Given the description of an element on the screen output the (x, y) to click on. 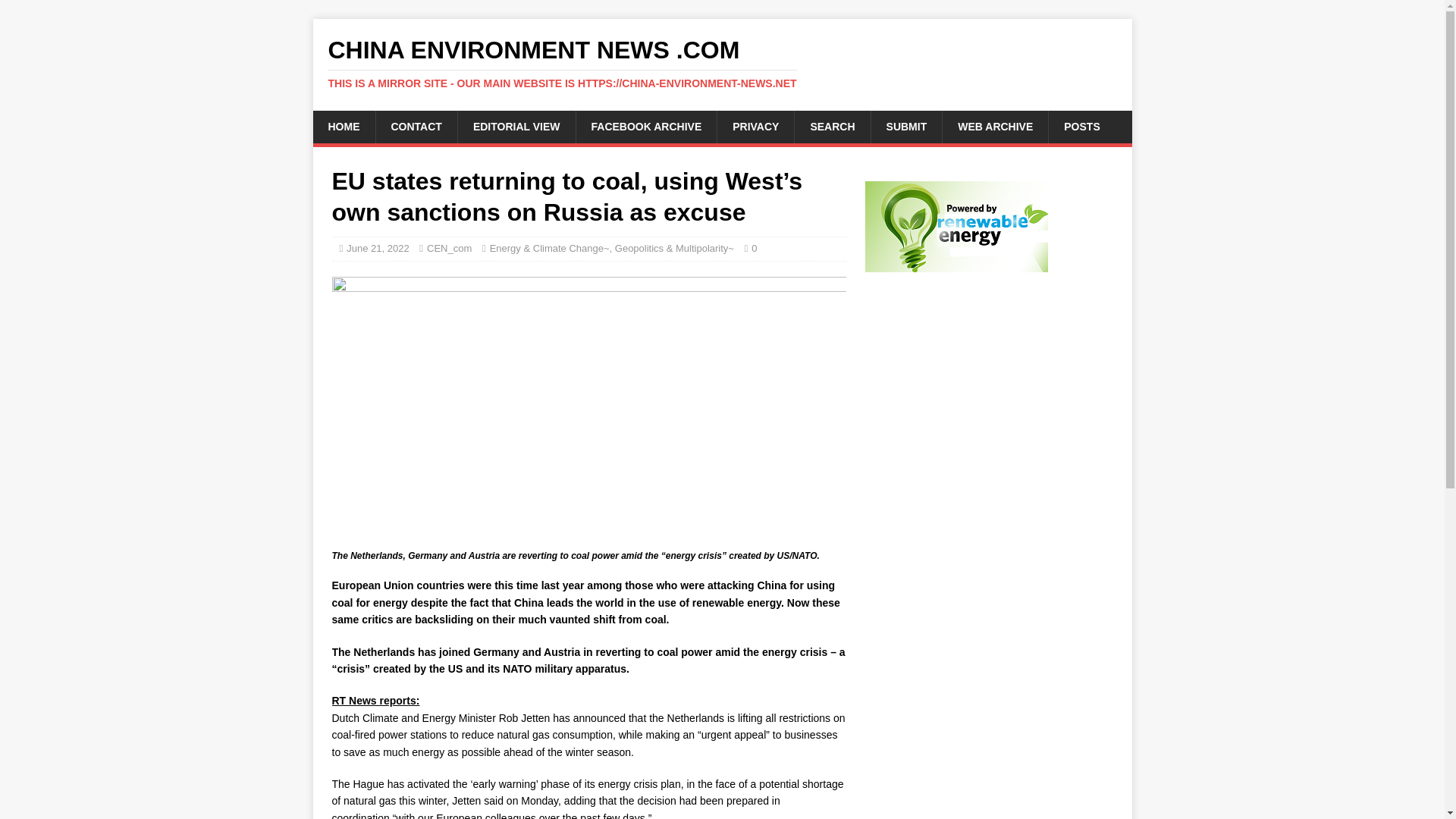
CONTACT (415, 126)
WEB ARCHIVE (995, 126)
HOME (343, 126)
June 21, 2022 (377, 247)
FACEBOOK ARCHIVE (646, 126)
EDITORIAL VIEW (516, 126)
China Environment News  .Com (721, 63)
POSTS (1081, 126)
SEARCH (831, 126)
PRIVACY (754, 126)
